Given the description of an element on the screen output the (x, y) to click on. 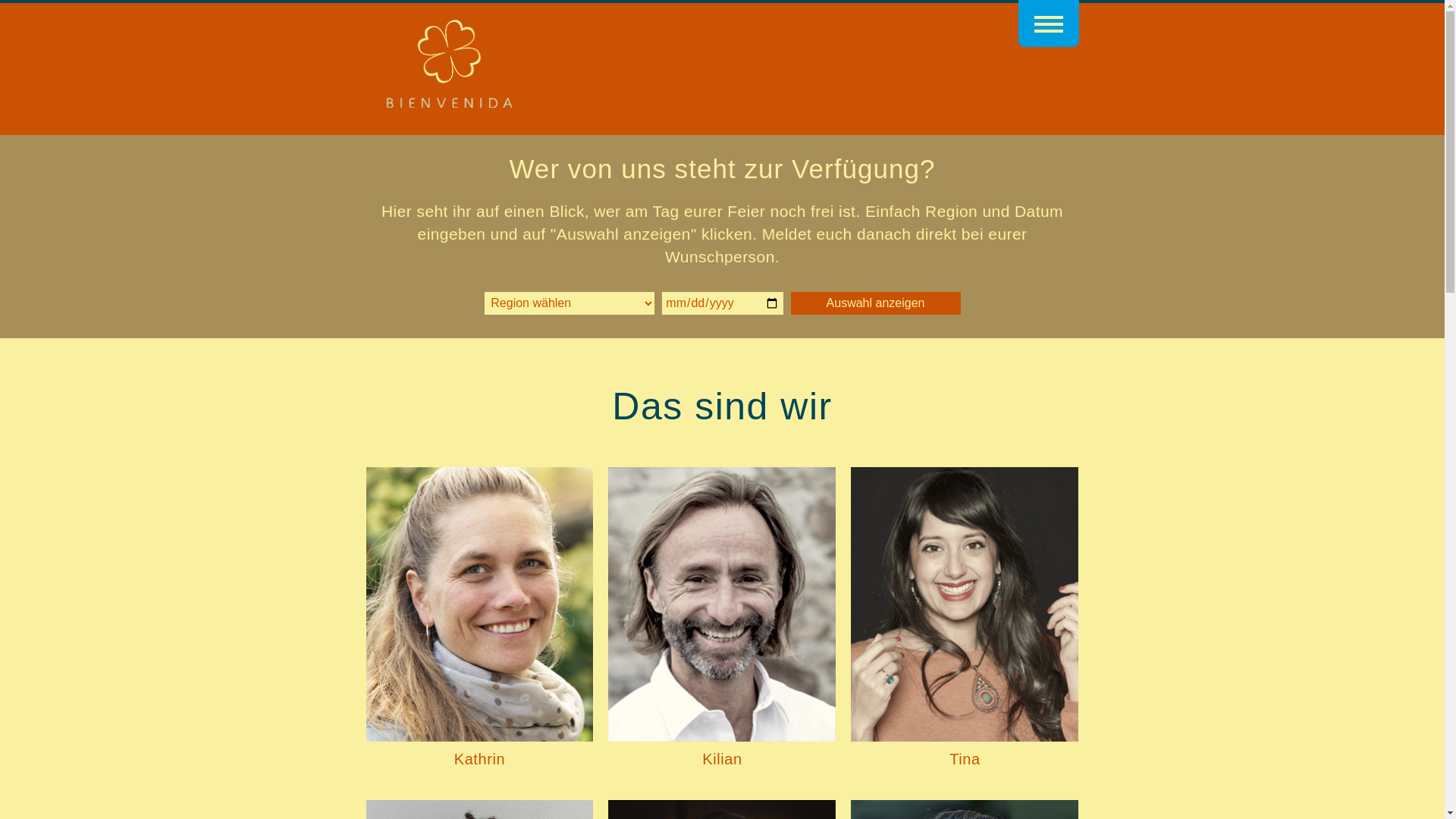
Auswahl anzeigen Element type: text (875, 302)
